Given the description of an element on the screen output the (x, y) to click on. 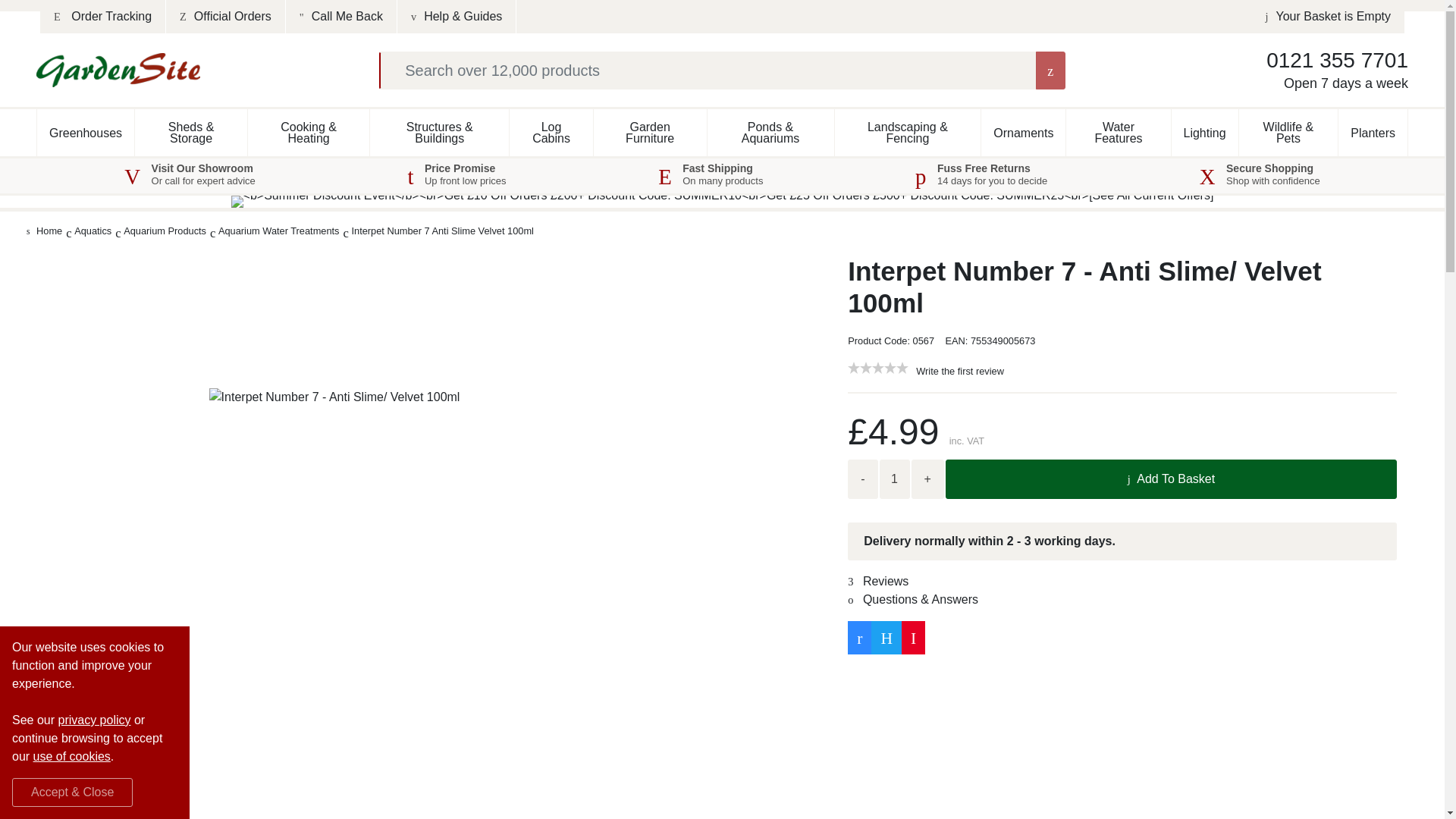
Greenhouses (85, 132)
Call Me Back (341, 16)
Order Tracking (102, 16)
GardenSite (118, 69)
Official Orders (225, 16)
